Given the description of an element on the screen output the (x, y) to click on. 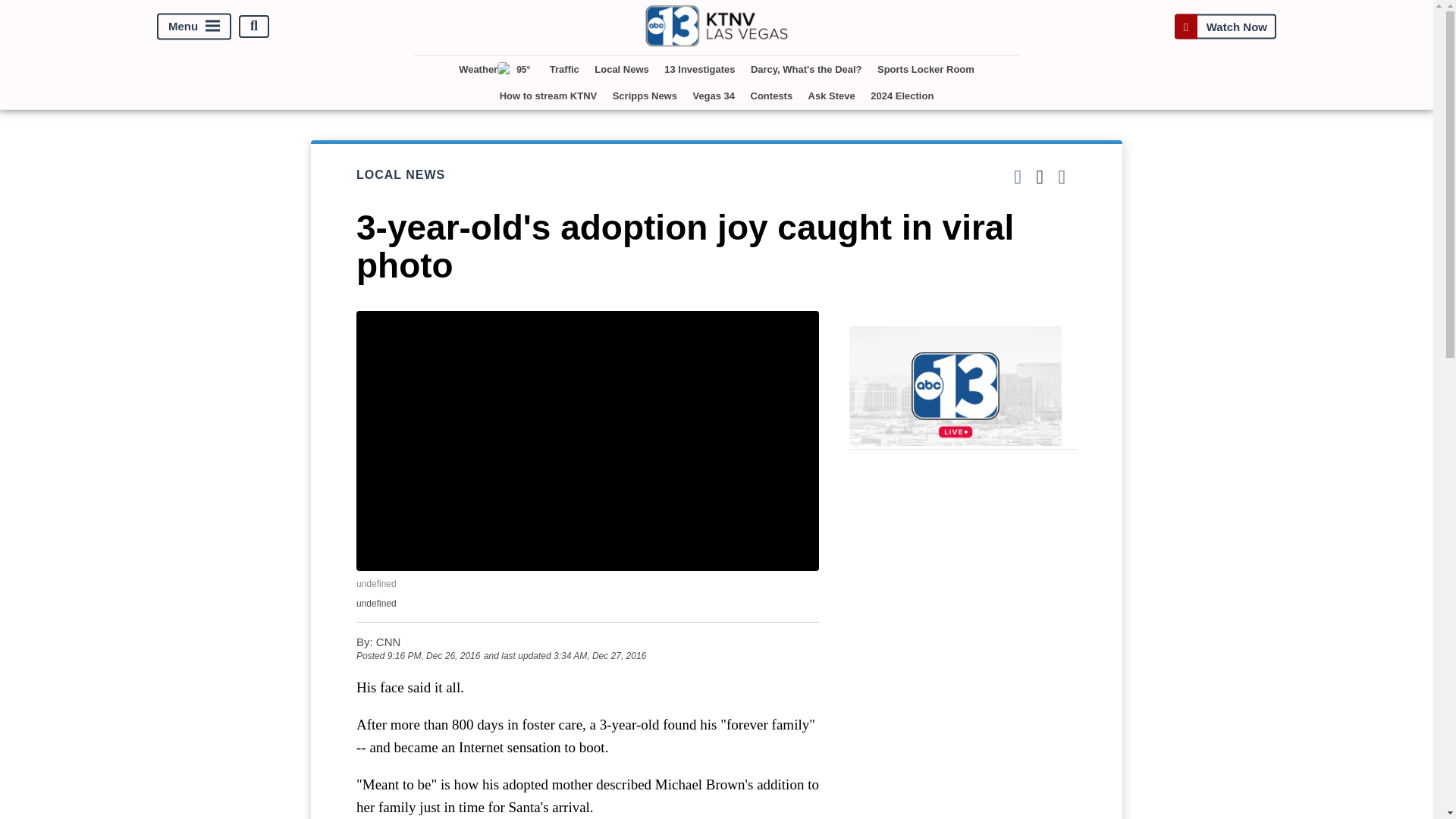
Watch Now (1224, 25)
Menu (194, 26)
